Given the description of an element on the screen output the (x, y) to click on. 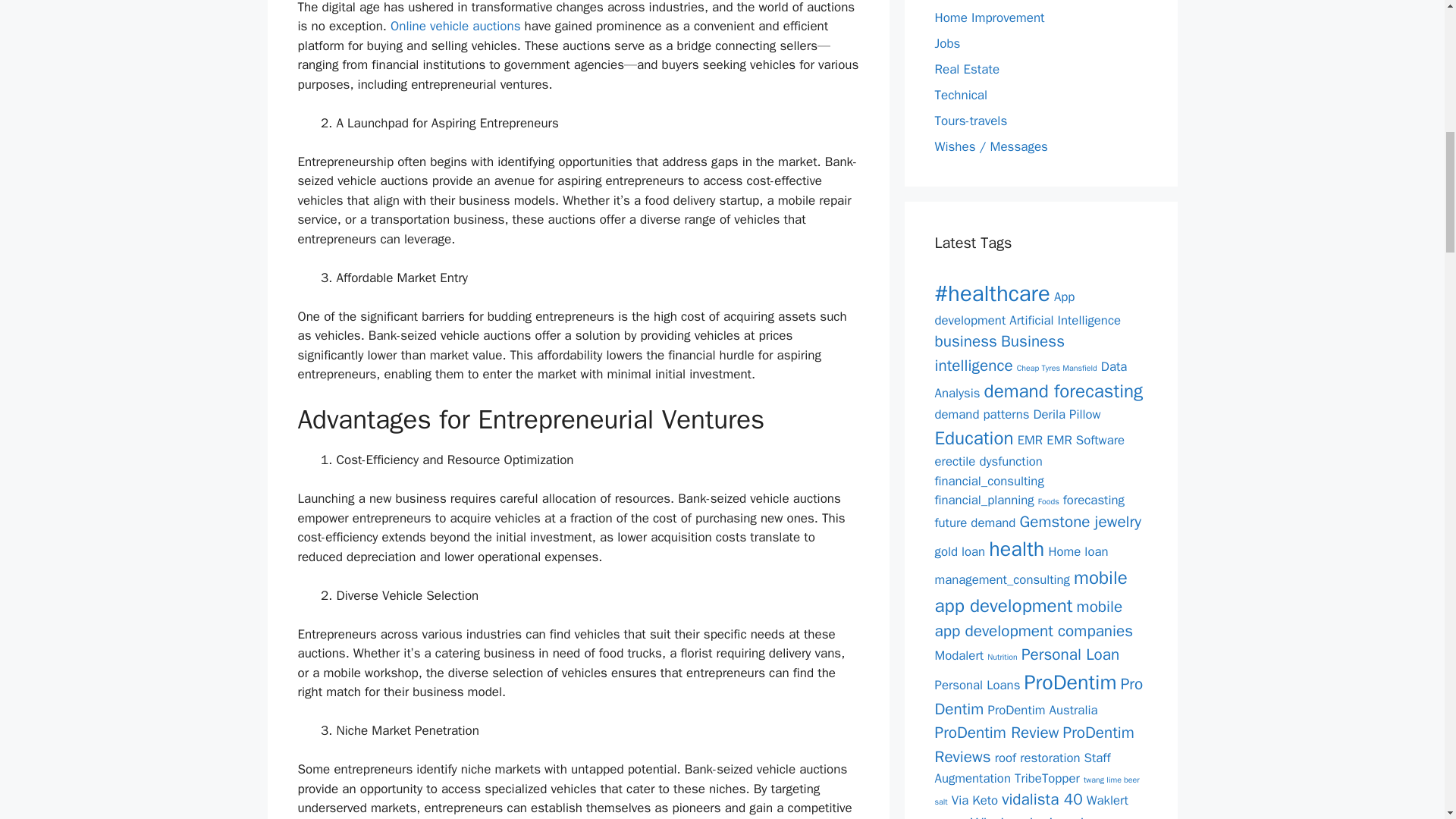
Online vehicle auctions (454, 26)
